Given the description of an element on the screen output the (x, y) to click on. 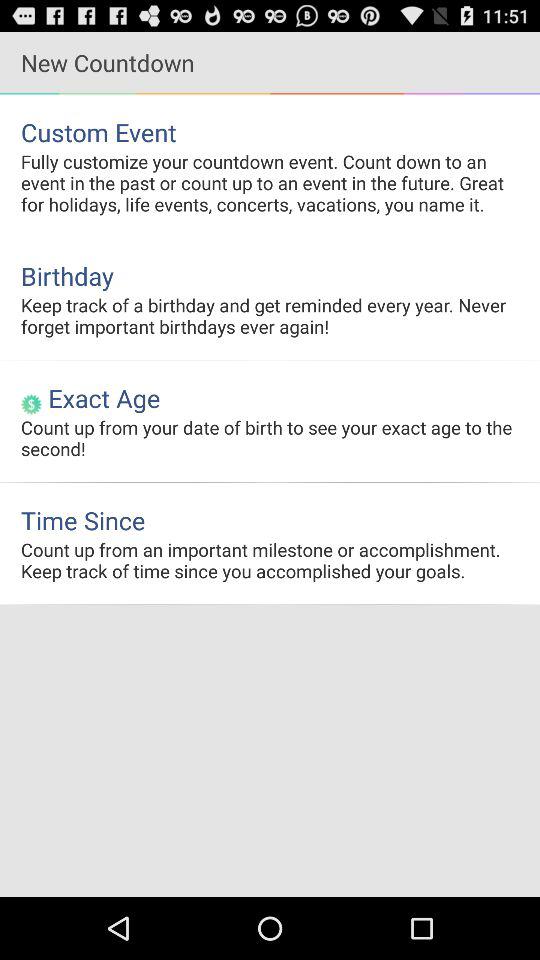
jump until the custom event (270, 132)
